Given the description of an element on the screen output the (x, y) to click on. 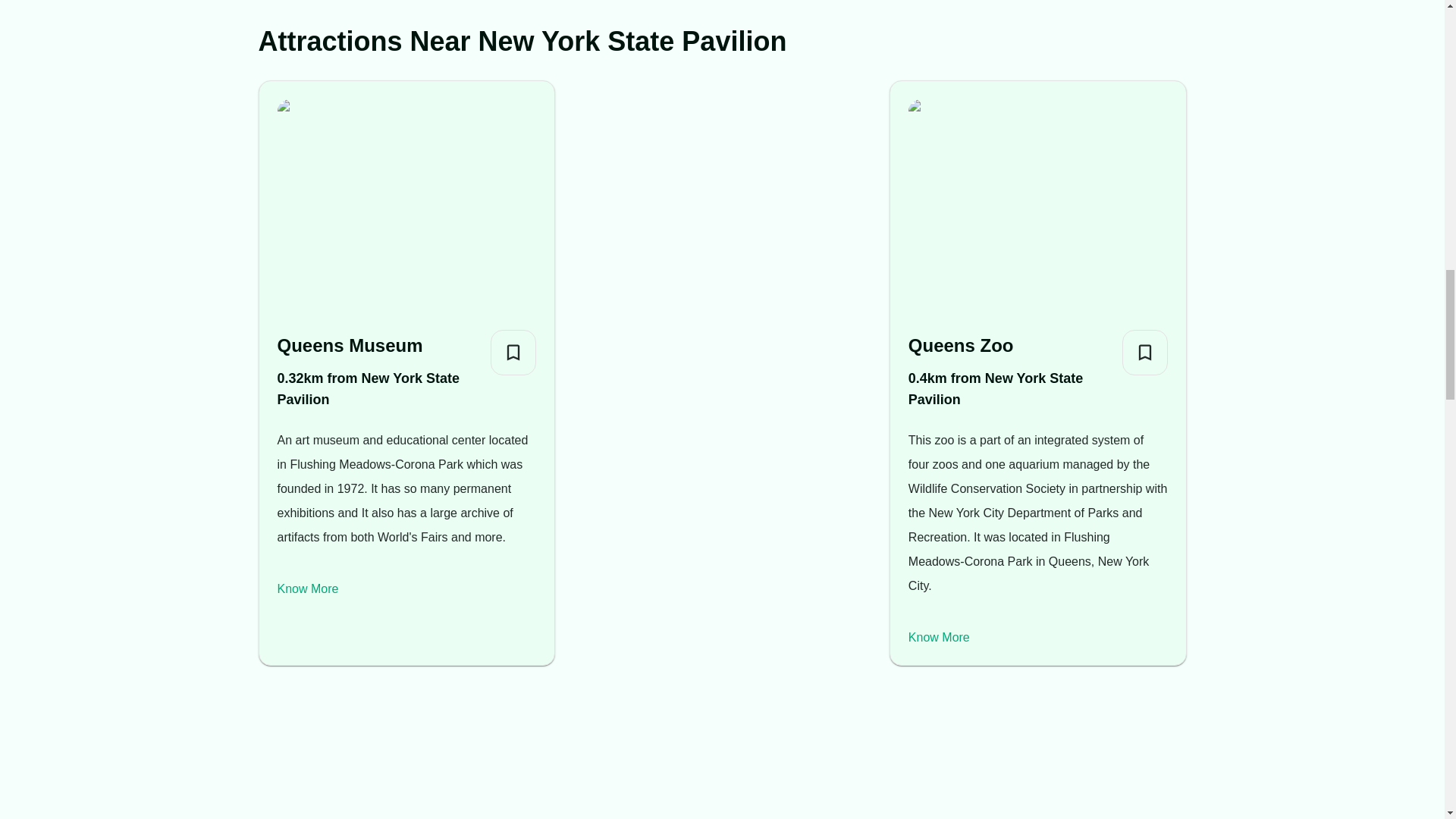
Add to Bucket List (512, 352)
Queens Museum (378, 345)
Know More (308, 588)
Add to Bucket List (1144, 352)
Queens Zoo (1008, 345)
Know More (938, 636)
